Given the description of an element on the screen output the (x, y) to click on. 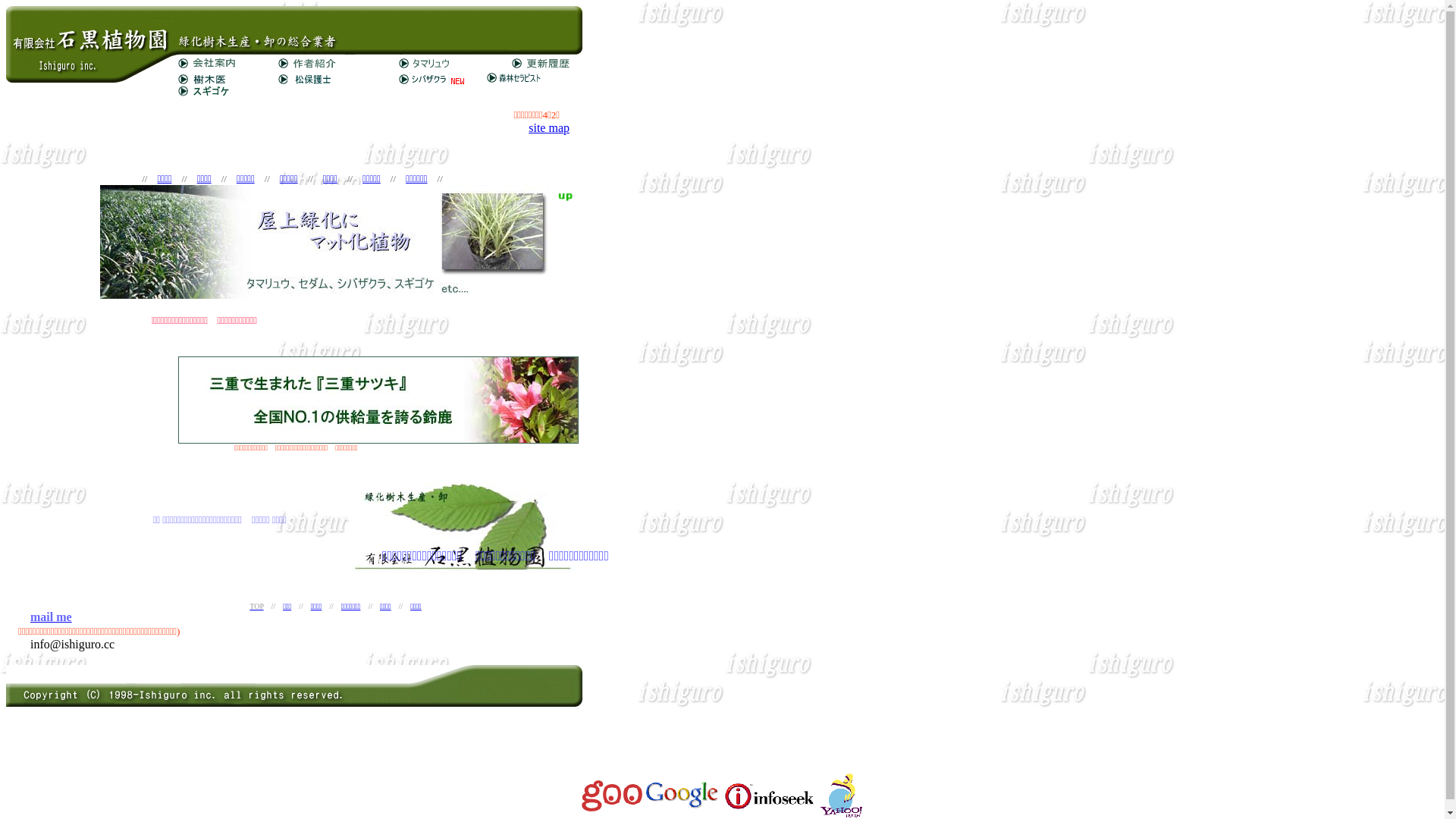
TOP Element type: text (256, 604)
site map Element type: text (548, 127)
mail me Element type: text (51, 616)
